Given the description of an element on the screen output the (x, y) to click on. 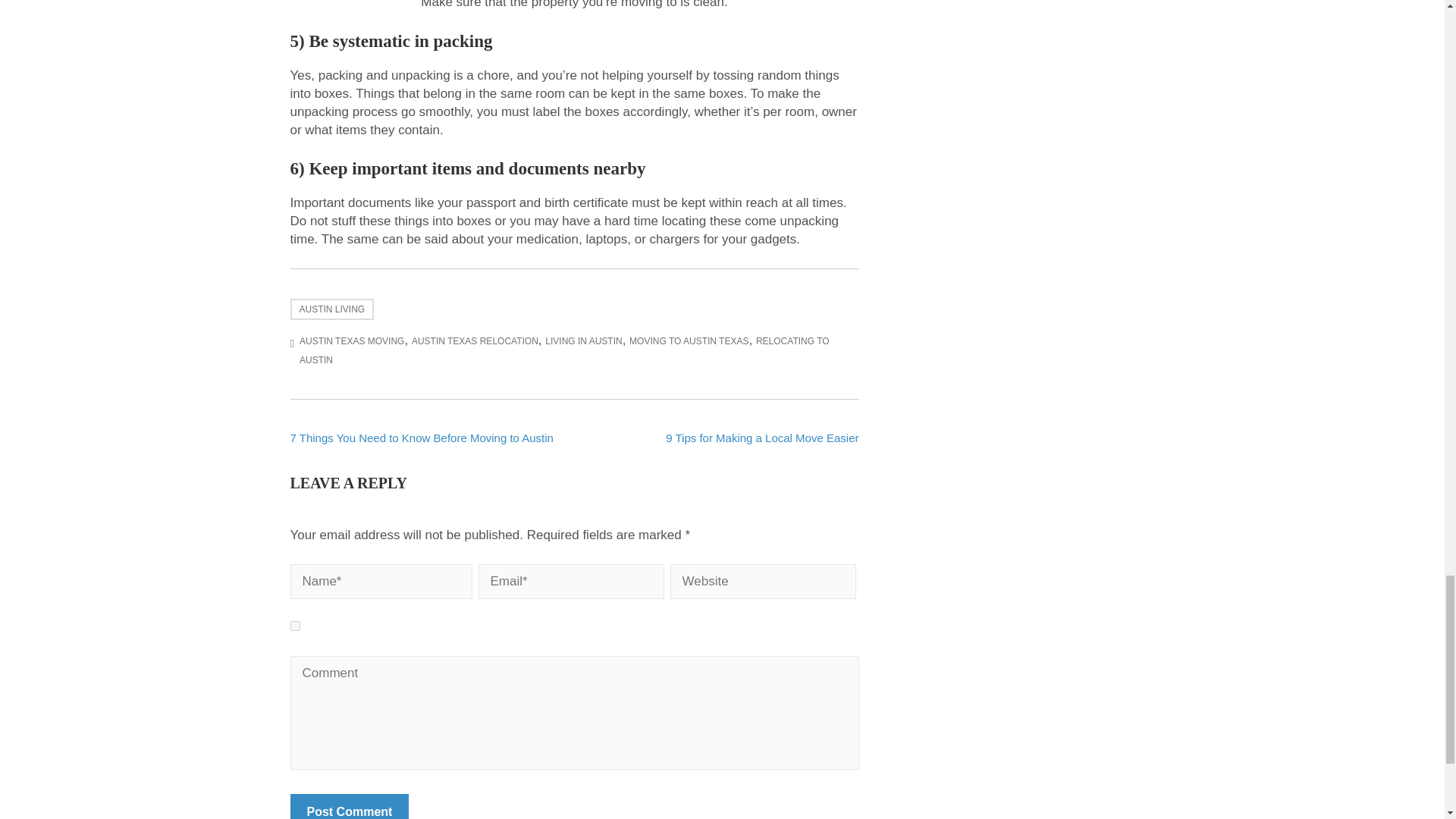
yes (294, 625)
LIVING IN AUSTIN (582, 340)
RELOCATING TO AUSTIN (564, 350)
AUSTIN LIVING (331, 309)
Post Comment (349, 806)
9 Tips for Making a Local Move Easier (762, 437)
AUSTIN TEXAS MOVING (351, 340)
7 Things You Need to Know Before Moving to Austin (421, 437)
Post Comment (349, 806)
MOVING TO AUSTIN TEXAS (688, 340)
